Given the description of an element on the screen output the (x, y) to click on. 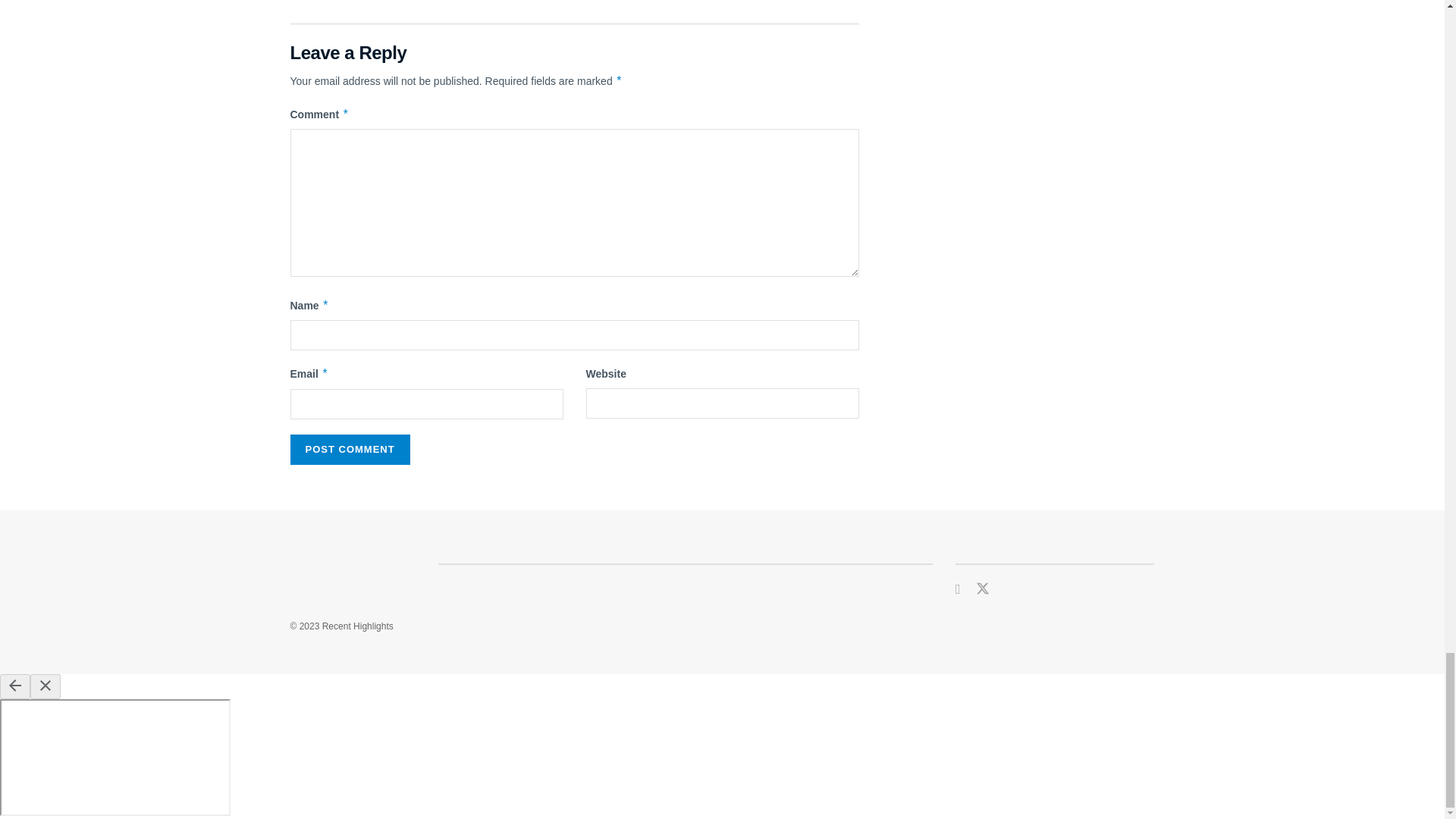
Post Comment (349, 449)
